Given the description of an element on the screen output the (x, y) to click on. 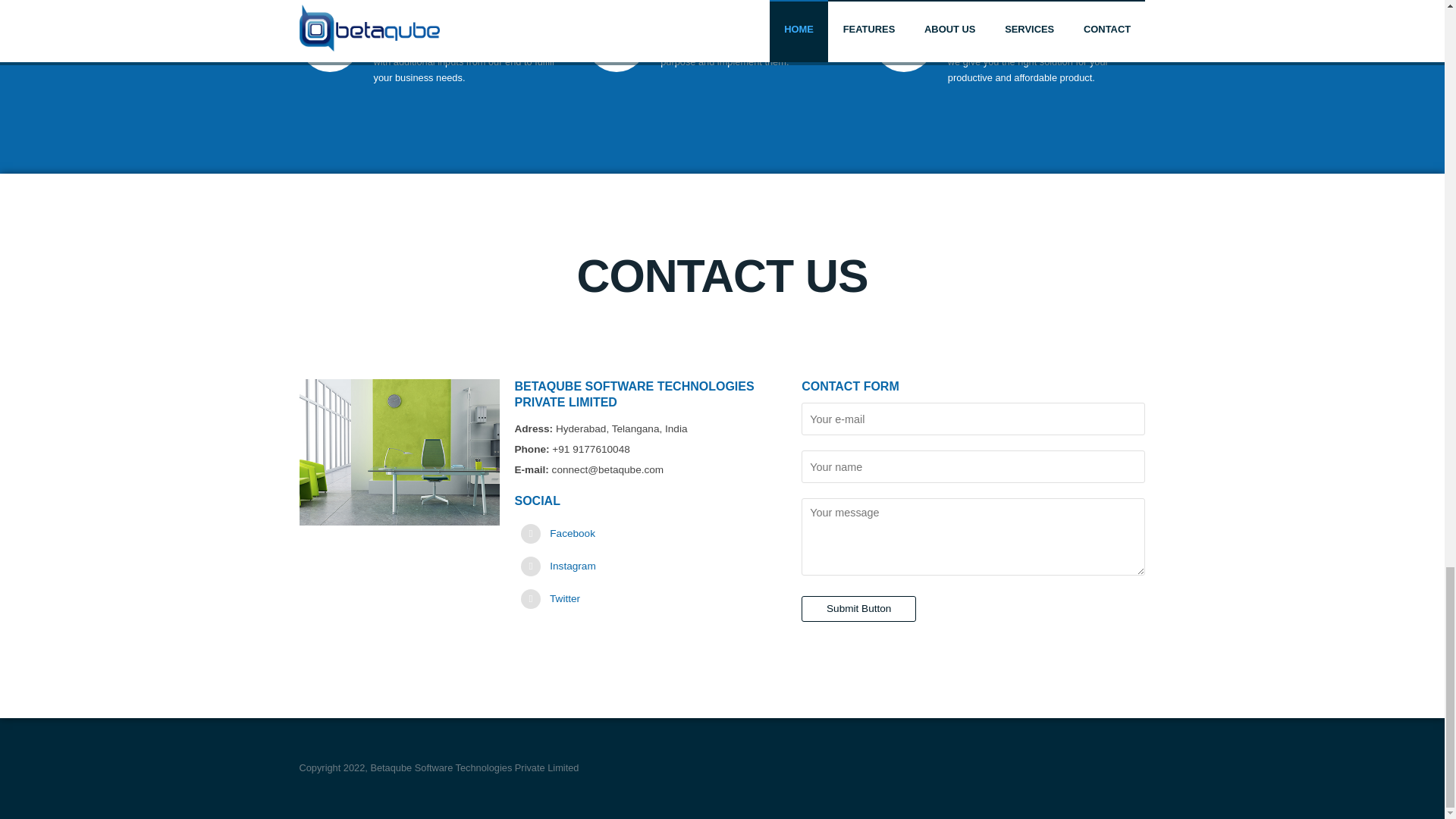
Instagram (572, 565)
Your name (973, 466)
Your e-mail (973, 418)
Facebook (572, 532)
Twitter (564, 598)
Submit Button (858, 608)
